Given the description of an element on the screen output the (x, y) to click on. 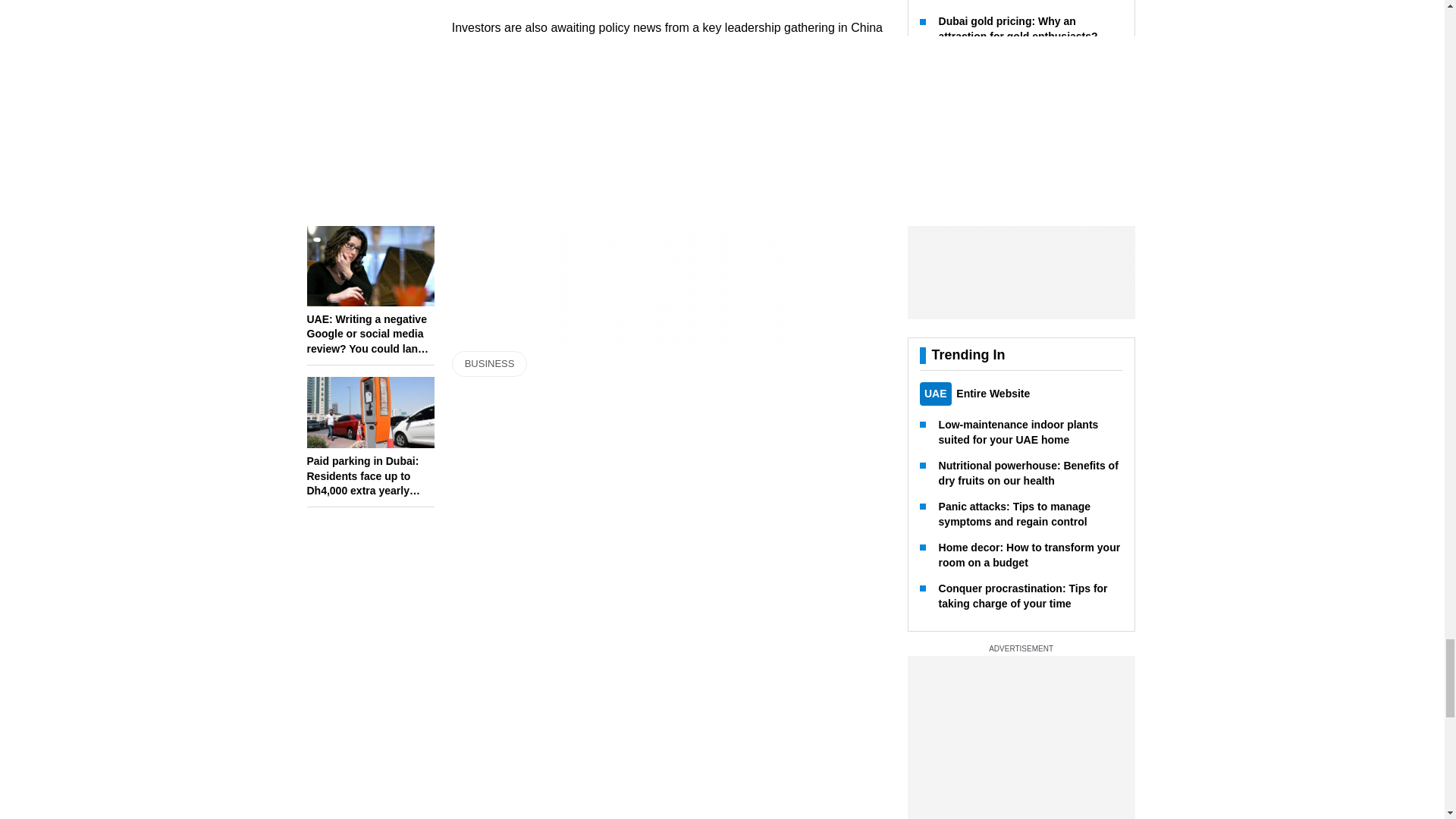
3rd party ad content (670, 249)
